Given the description of an element on the screen output the (x, y) to click on. 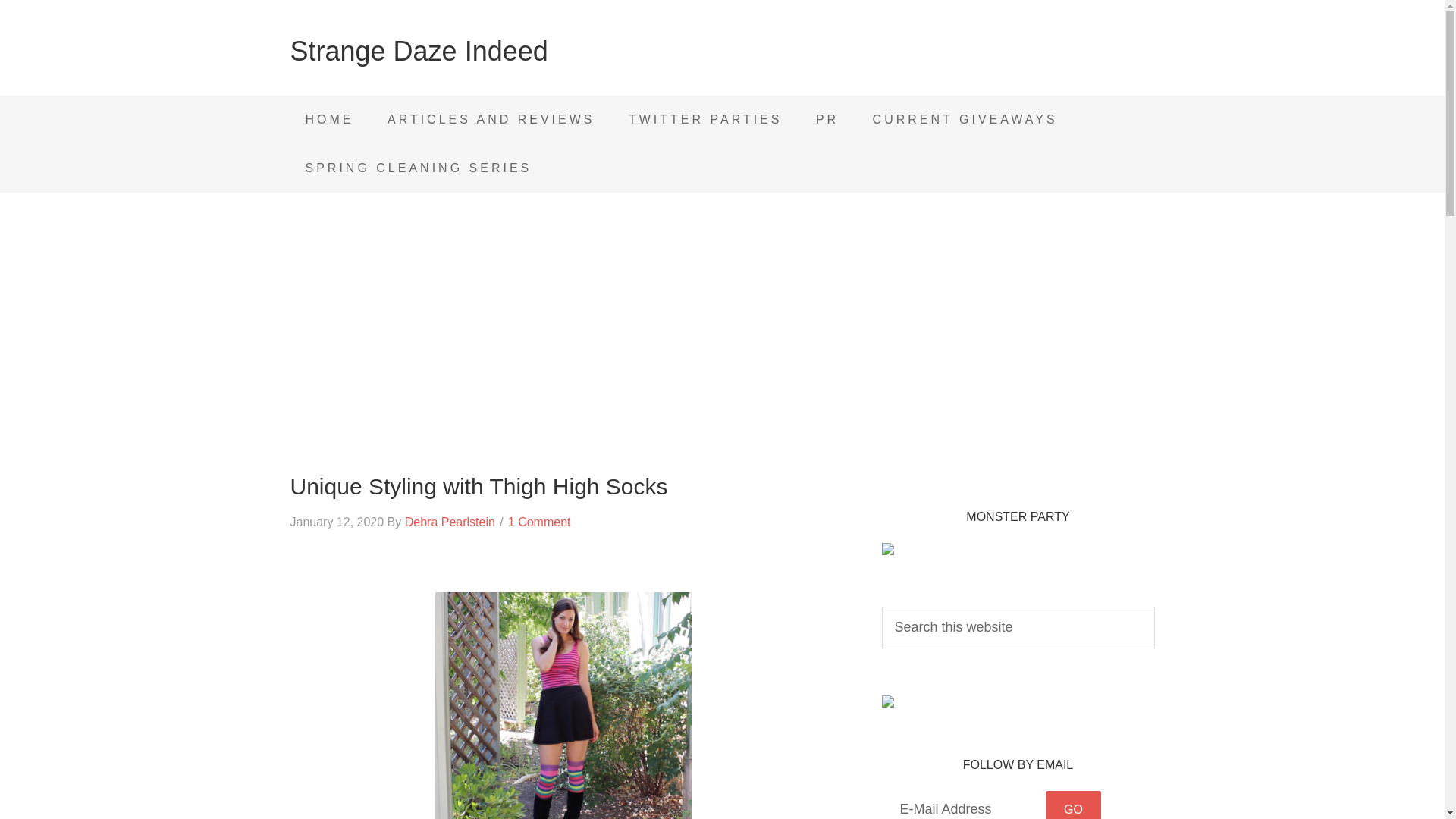
SPRING CLEANING SERIES (418, 168)
Strange Daze Indeed (418, 51)
HOME (328, 119)
CURRENT GIVEAWAYS (965, 119)
Go (1072, 805)
1 Comment (539, 521)
Debra Pearlstein (449, 521)
